Given the description of an element on the screen output the (x, y) to click on. 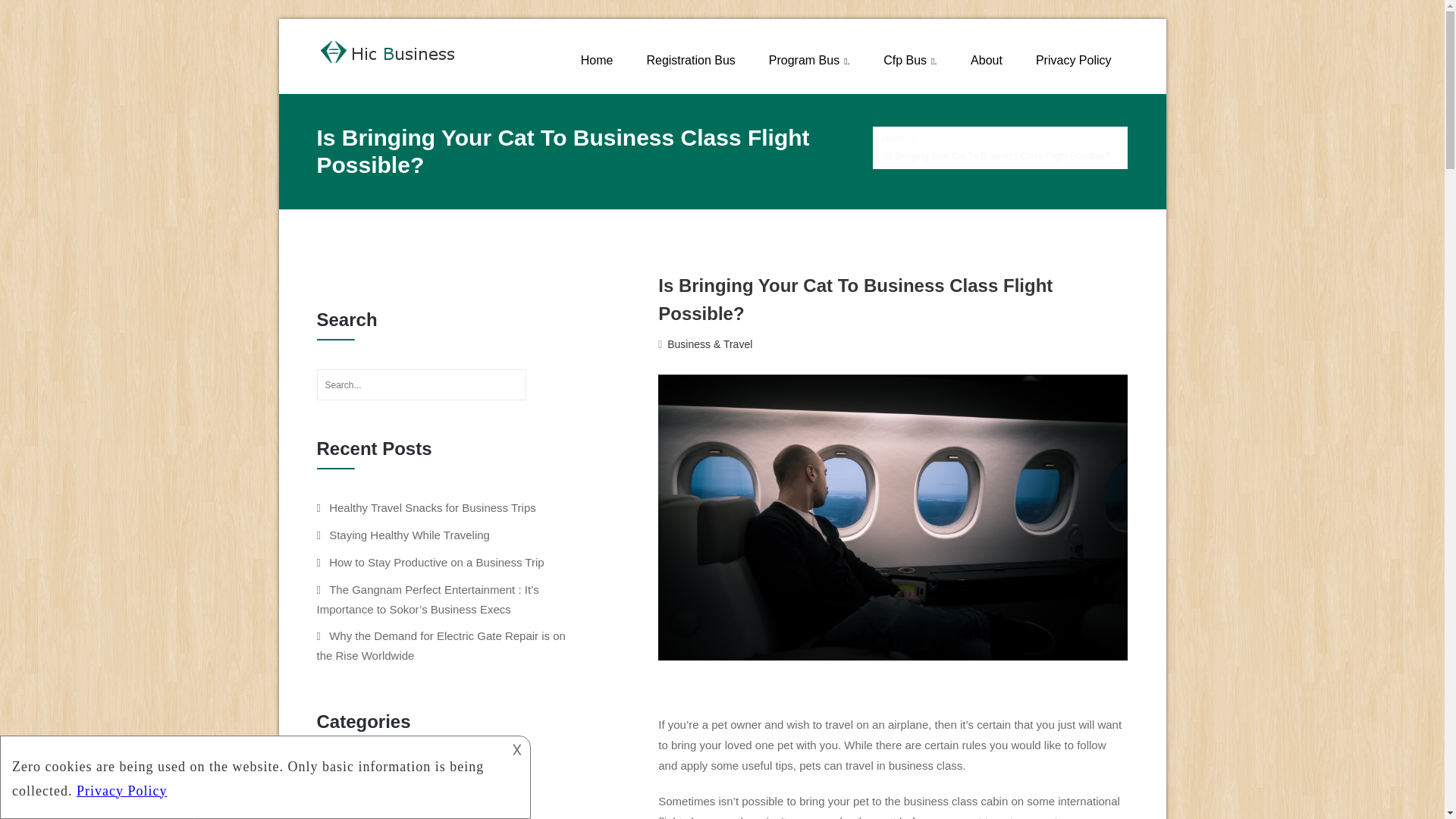
Business (349, 780)
Registration Bus (689, 59)
Program Bus... (809, 59)
Healthy Travel Snacks for Business Trips (432, 507)
Search (548, 384)
Search (548, 384)
How to Stay Productive on a Business Trip (436, 562)
Staying Healthy While Traveling (409, 534)
description (252, 774)
Home (597, 59)
